Given the description of an element on the screen output the (x, y) to click on. 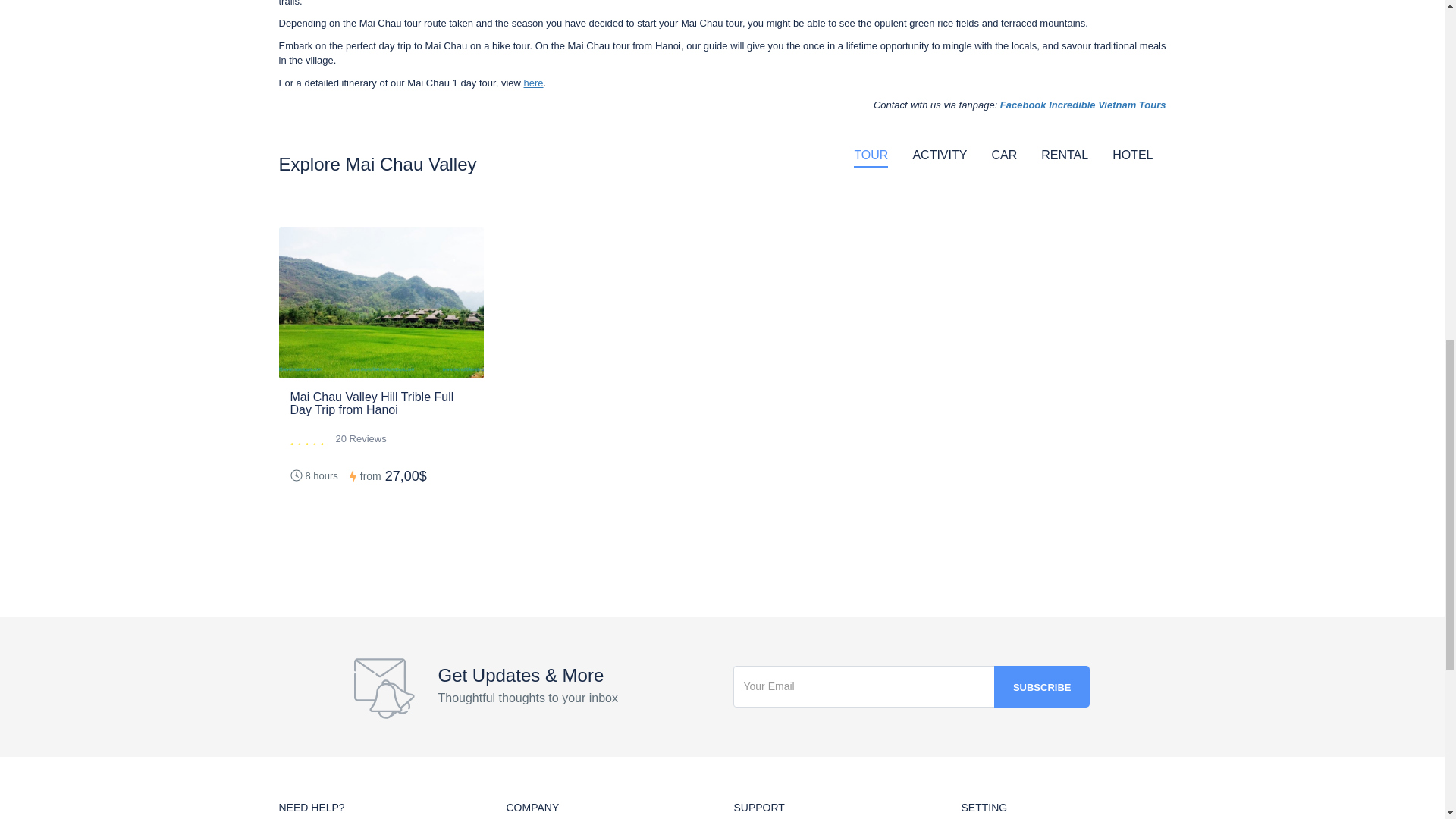
RENTAL (1064, 155)
TOUR (870, 155)
here (532, 82)
ACTIVITY (939, 155)
Add to wishlist (464, 251)
CAR (1003, 155)
Facebook Incredible Vietnam Tours (1083, 104)
HOTEL (1132, 155)
Mai Chau Valley Hill Trible Full Day Trip from Hanoi (370, 403)
Subscribe (1042, 686)
